Given the description of an element on the screen output the (x, y) to click on. 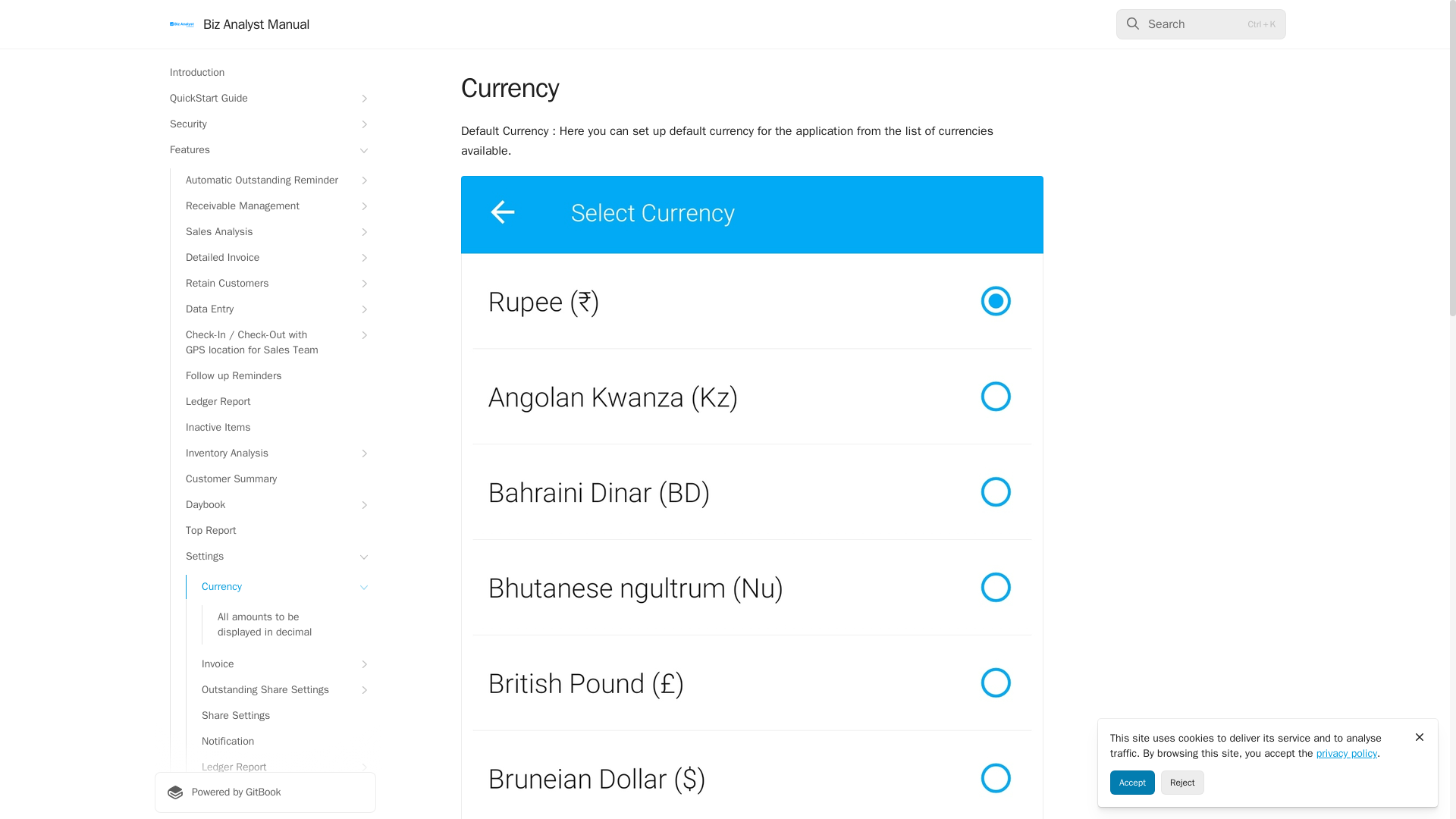
Close (1419, 737)
Introduction (264, 72)
Biz Analyst Manual (239, 24)
Security (264, 124)
Receivable Management (272, 206)
Features (264, 150)
Sales Analysis (272, 232)
QuickStart Guide (264, 98)
Automatic Outstanding Reminder (272, 180)
